Given the description of an element on the screen output the (x, y) to click on. 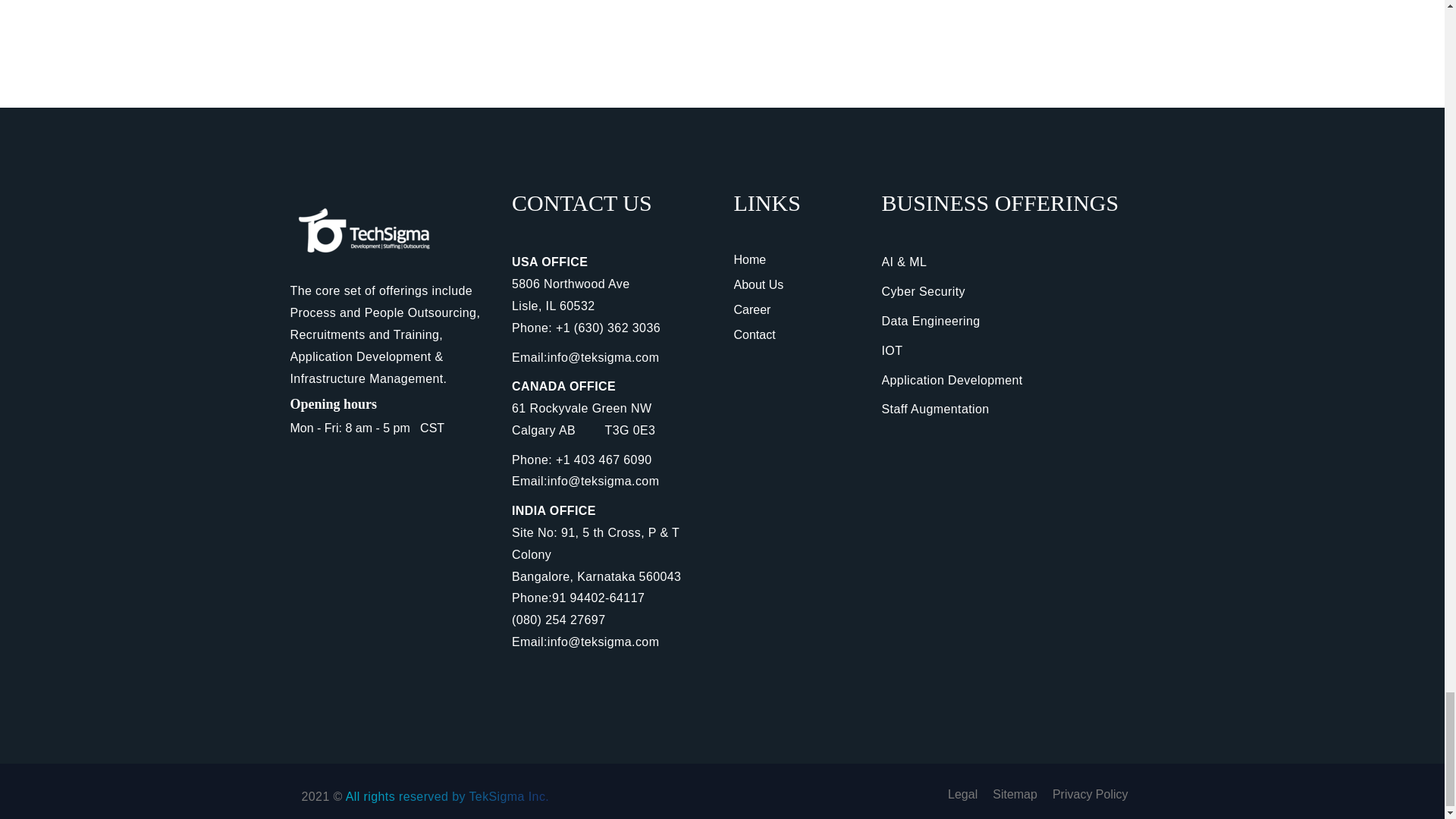
Cyber Security (922, 291)
Home (750, 259)
Contact (754, 334)
IOT (891, 350)
Data Engineering (929, 320)
About Us (758, 284)
Staff Augmentation (934, 408)
Sitemap (1014, 793)
Legal (961, 793)
All rights reserved by TekSigma Inc. (447, 796)
Career (752, 309)
Application Development (951, 379)
Privacy Policy (1090, 793)
